Given the description of an element on the screen output the (x, y) to click on. 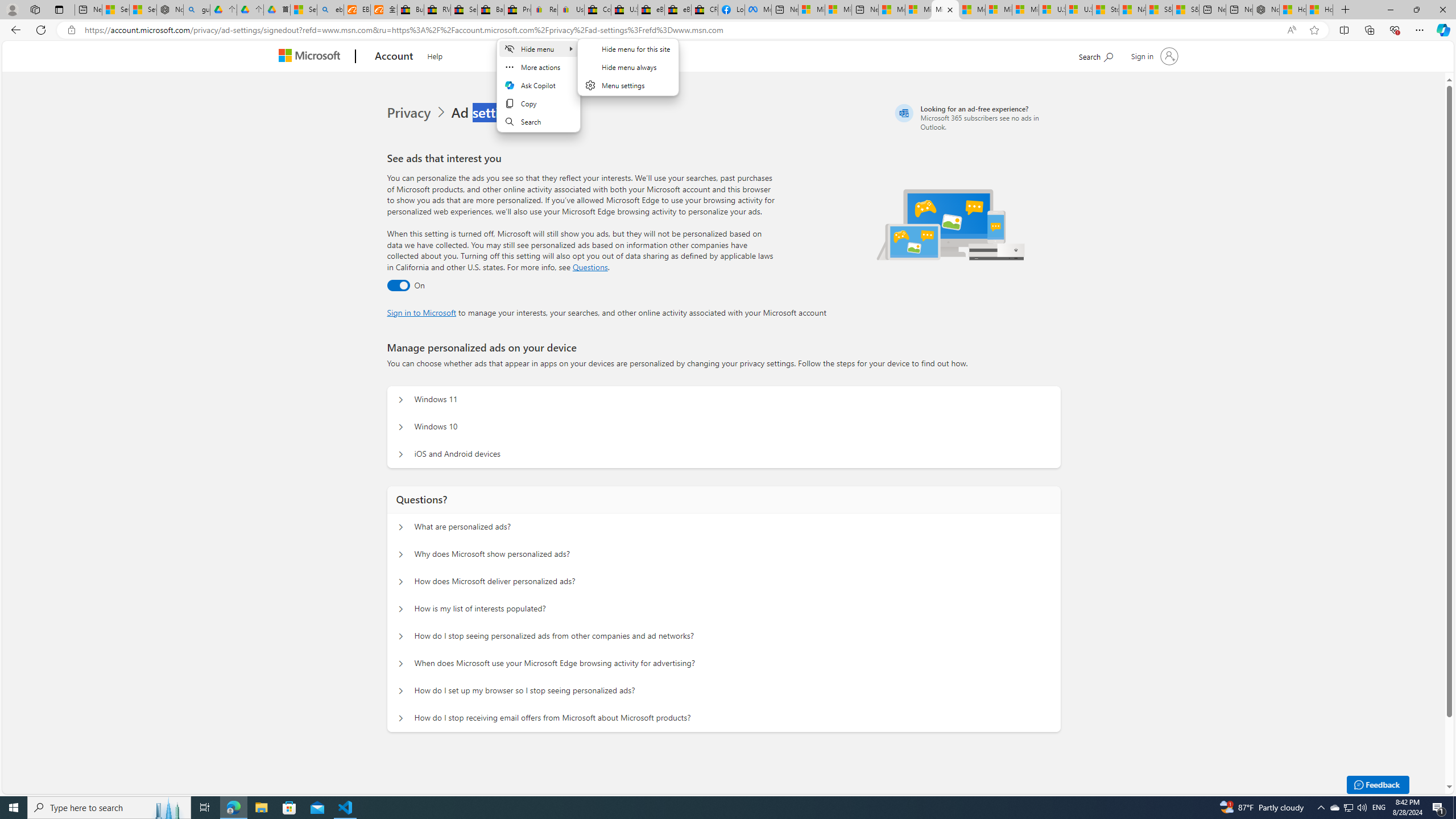
Microsoft (311, 56)
guge yunpan - Search (197, 9)
Register: Create a personal eBay account (543, 9)
Copilot (Ctrl+Shift+.) (1442, 29)
Microsoft account | Privacy (945, 9)
Questions? Why does Microsoft show personalized ads? (401, 554)
S&P 500, Nasdaq end lower, weighed by Nvidia dip | Watch (1185, 9)
Go to Questions section (590, 266)
Press Room - eBay Inc. (517, 9)
Questions? How is my list of interests populated? (401, 608)
